Given the description of an element on the screen output the (x, y) to click on. 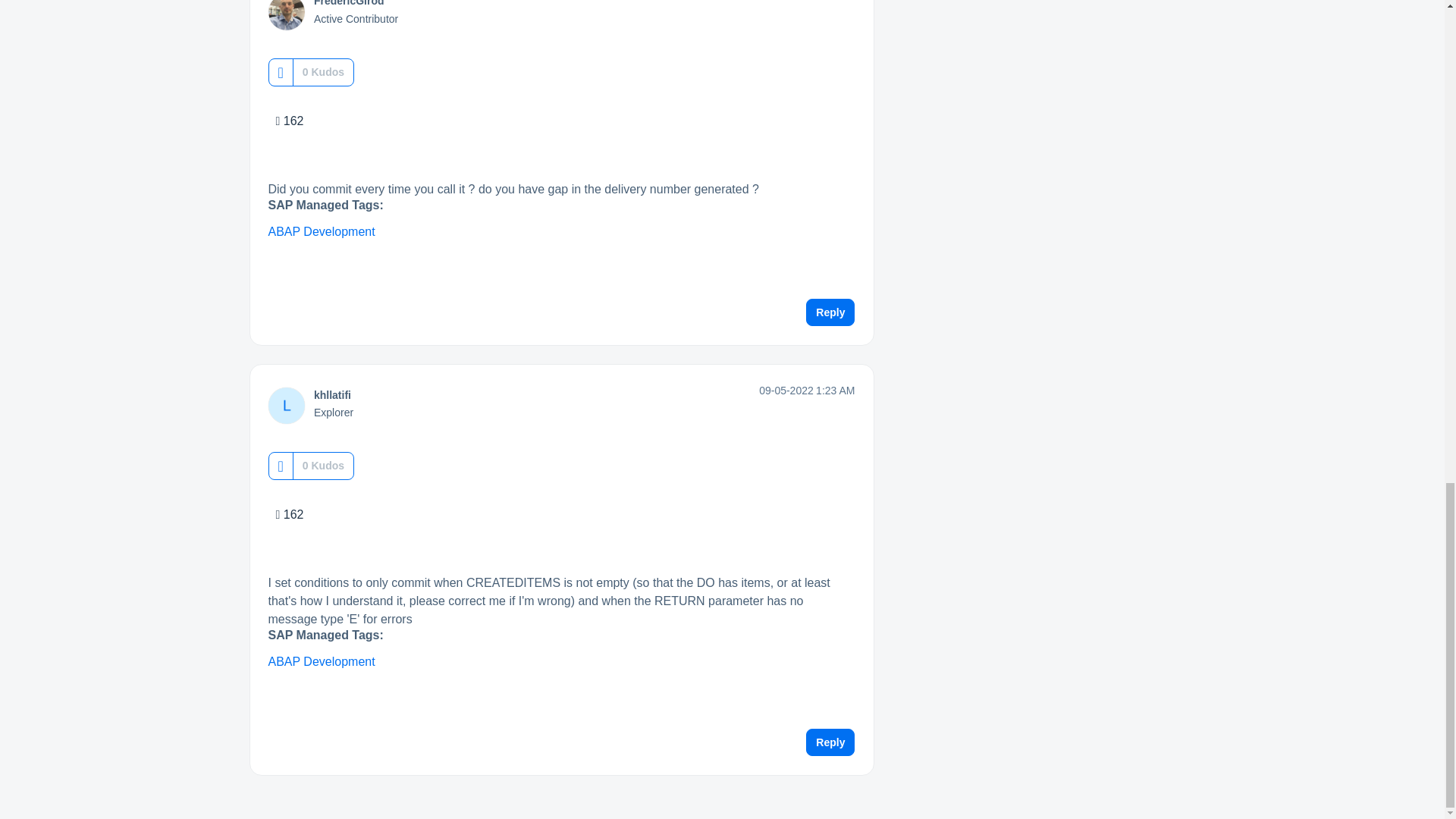
khllatifi (332, 395)
Reply (830, 311)
ABAP Development (321, 231)
FredericGirod (349, 3)
